Given the description of an element on the screen output the (x, y) to click on. 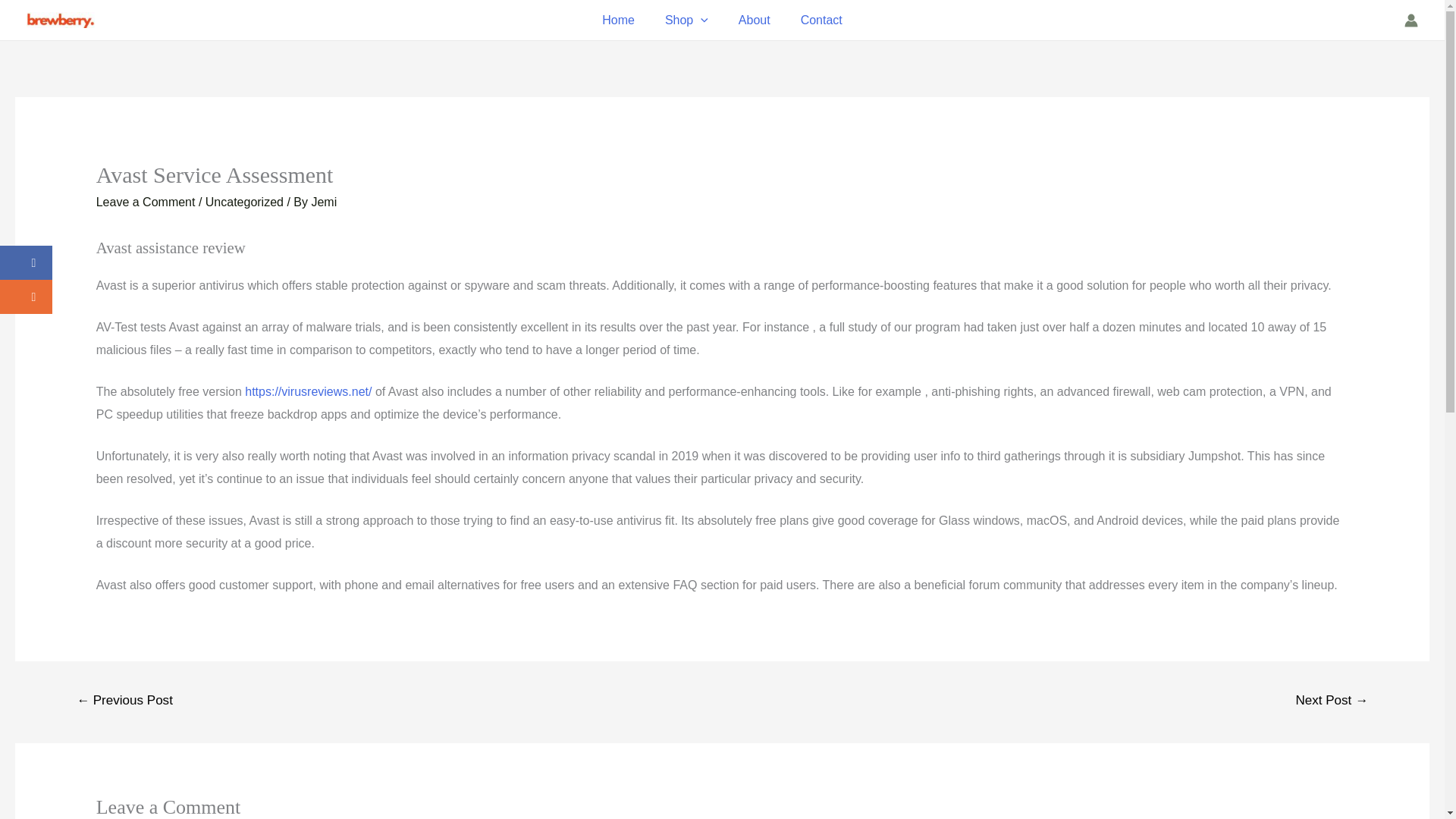
View all posts by Jemi (323, 201)
Leave a Comment (145, 201)
Contact (821, 20)
Jemi (323, 201)
Shop (686, 20)
About (754, 20)
Uncategorized (244, 201)
Home (617, 20)
